Given the description of an element on the screen output the (x, y) to click on. 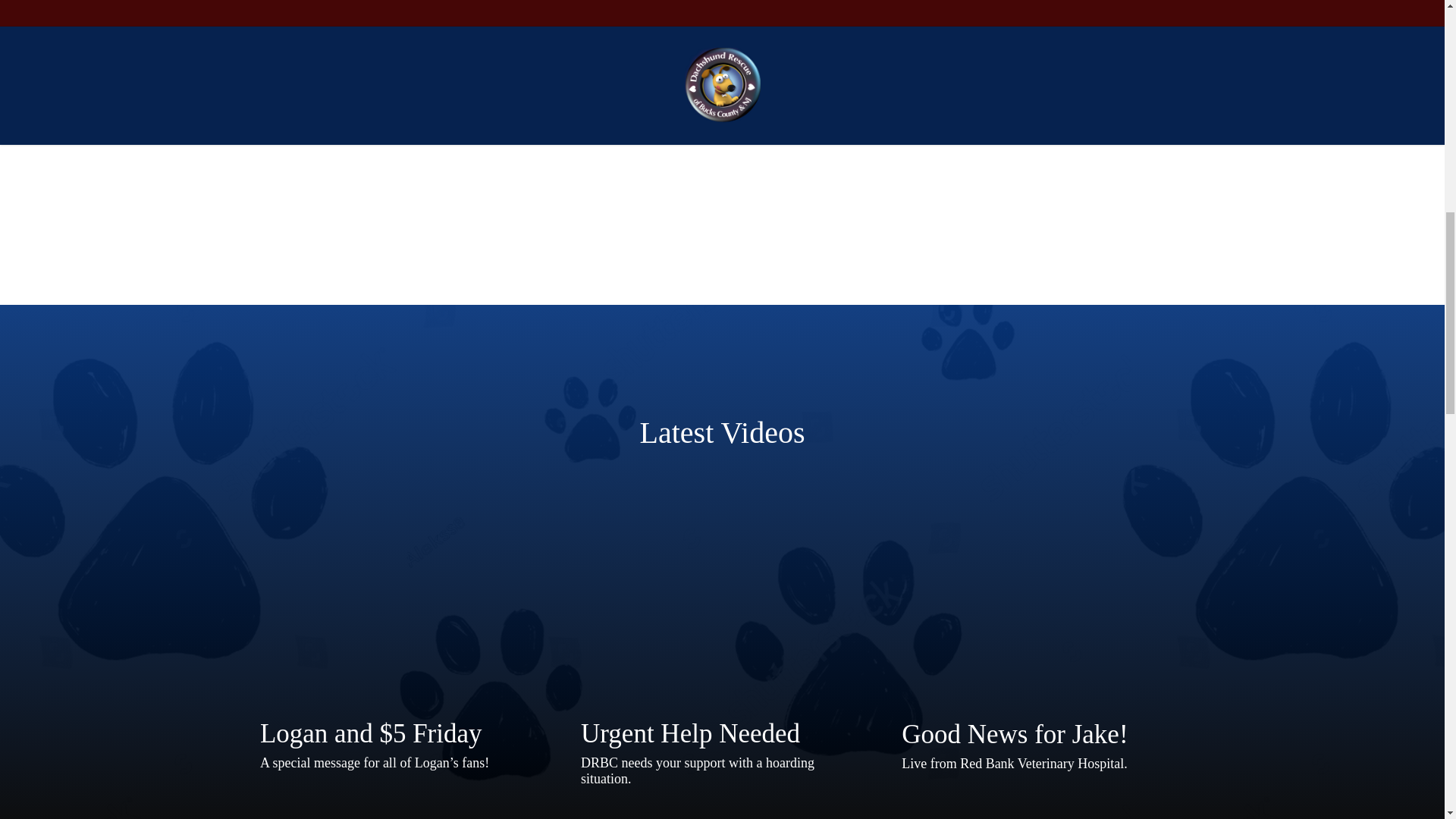
Urgent Help Needed (721, 605)
